Given the description of an element on the screen output the (x, y) to click on. 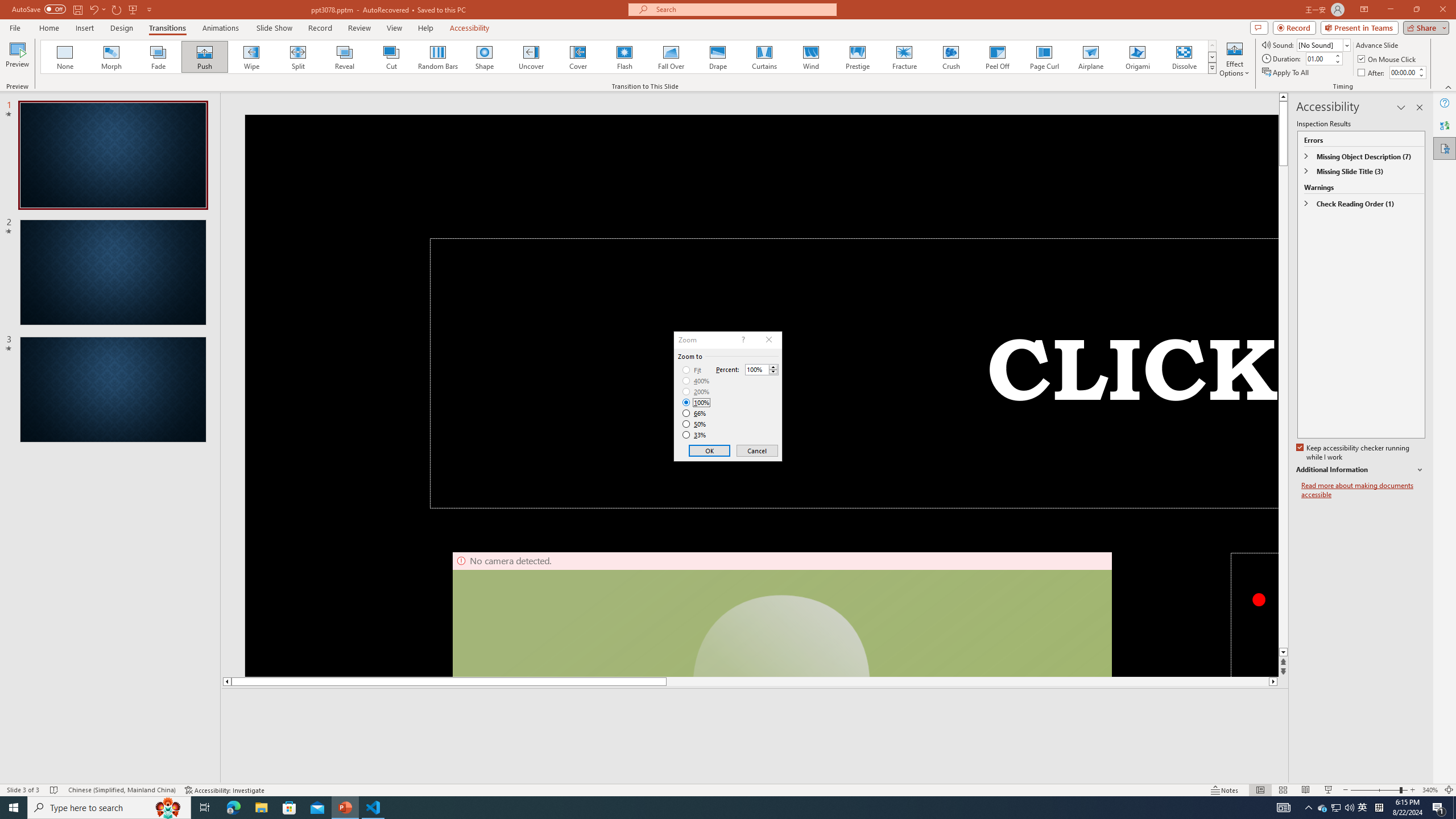
AutomationID: AnimationTransitionGallery (628, 56)
Origami (1136, 56)
Context help (742, 339)
Reveal (344, 56)
Split (298, 56)
